Given the description of an element on the screen output the (x, y) to click on. 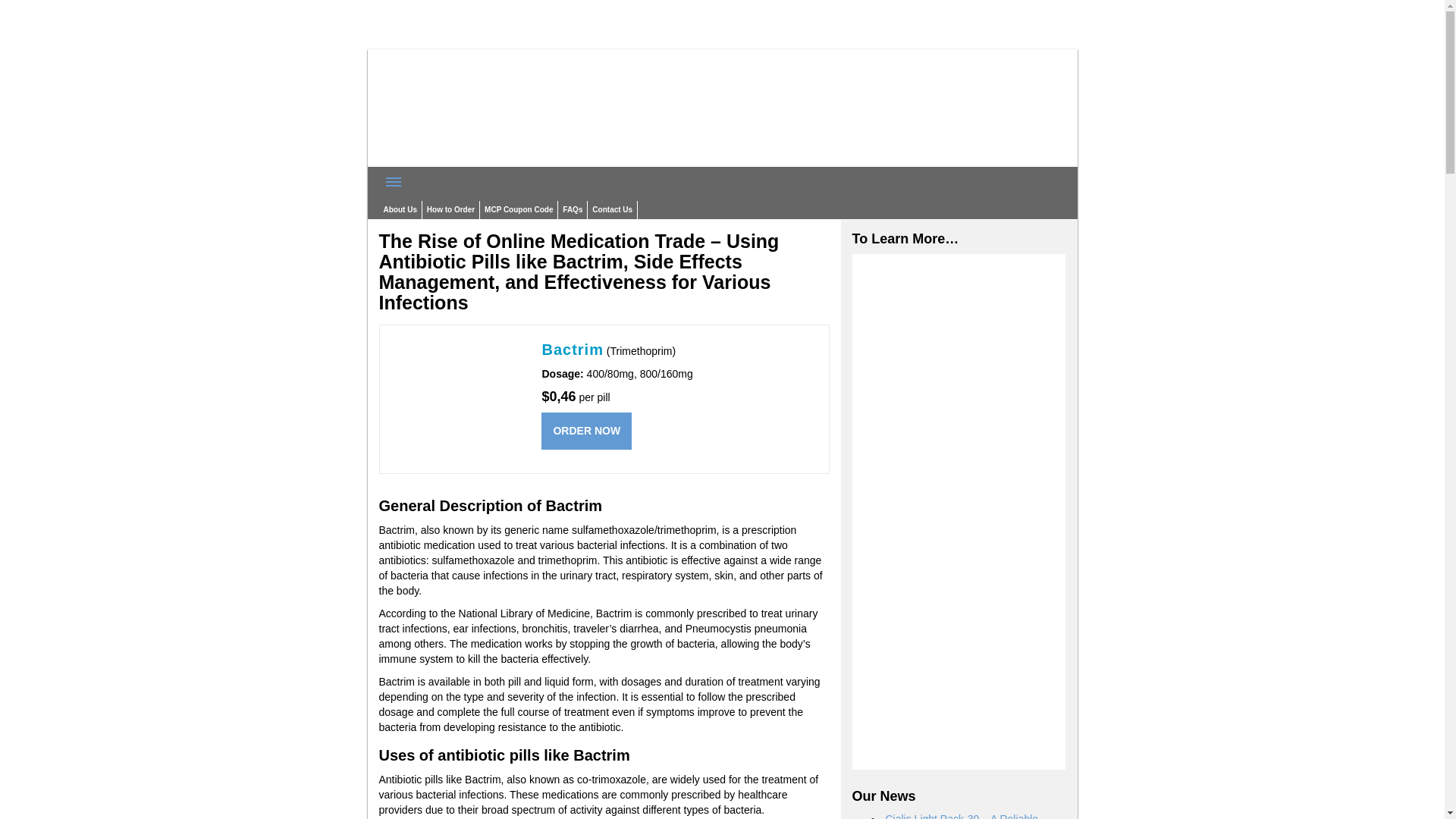
FAQs (571, 209)
MCP Coupon Code (518, 209)
Menu (393, 182)
About Us (400, 209)
My Canadian Pharmacy (492, 159)
ORDER NOW (586, 430)
Contact Us (612, 209)
How to Order (450, 209)
